Given the description of an element on the screen output the (x, y) to click on. 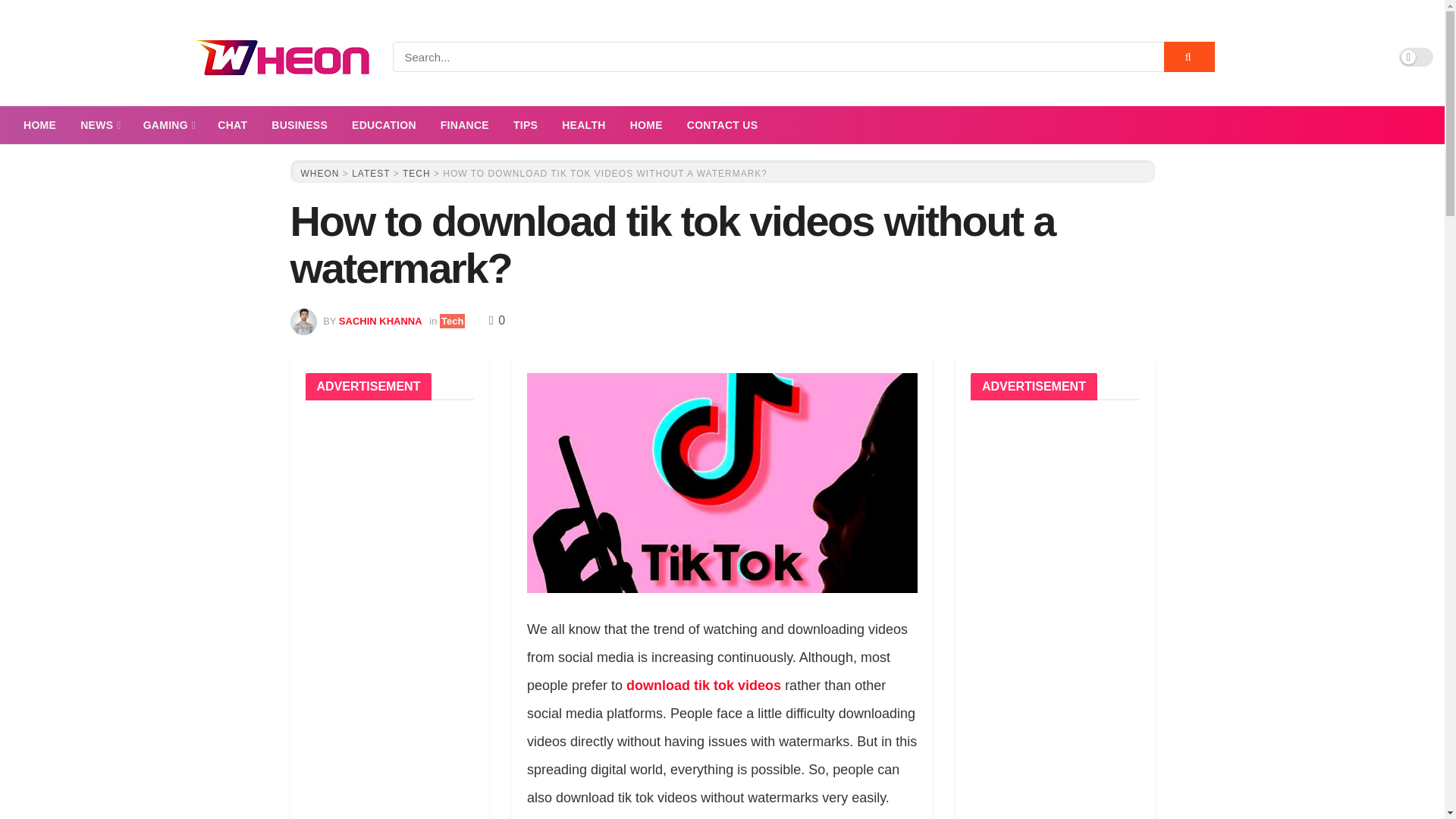
SACHIN KHANNA (380, 320)
Tech (451, 320)
EDUCATION (383, 125)
BUSINESS (299, 125)
Go to the Tech Category archives. (416, 173)
TIPS (525, 125)
HOME (39, 125)
WHEON (319, 173)
Go to Latest. (371, 173)
FINANCE (464, 125)
LATEST (371, 173)
HEALTH (583, 125)
Go to Wheon. (319, 173)
GAMING (168, 125)
TECH (416, 173)
